Given the description of an element on the screen output the (x, y) to click on. 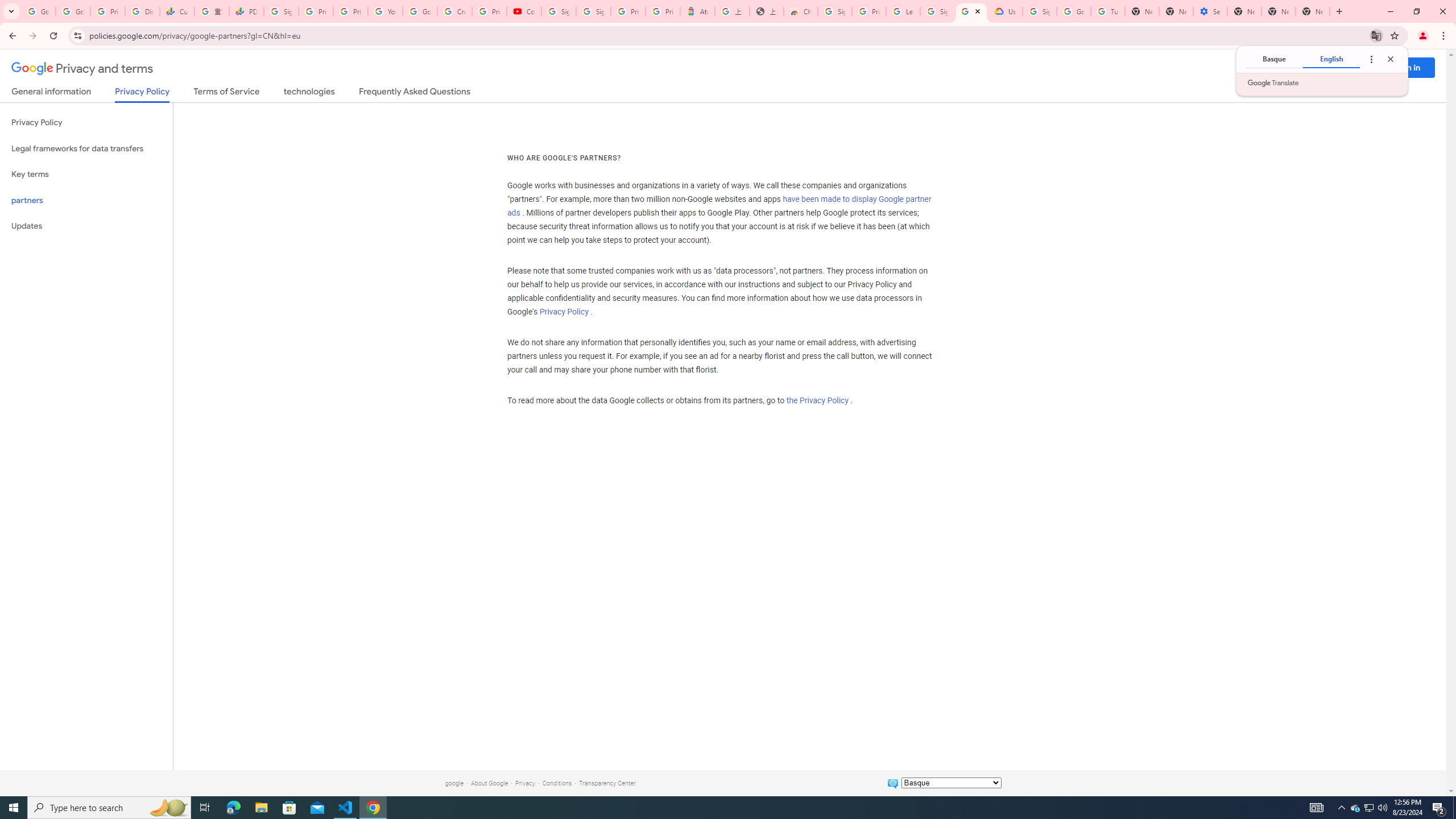
Sign in - Google Accounts (592, 11)
Translate options (1370, 58)
New Tab (1312, 11)
Transparency Center (607, 783)
Privacy and terms (81, 68)
Create your Google Account (454, 11)
Settings - Addresses and more (1209, 11)
